Given the description of an element on the screen output the (x, y) to click on. 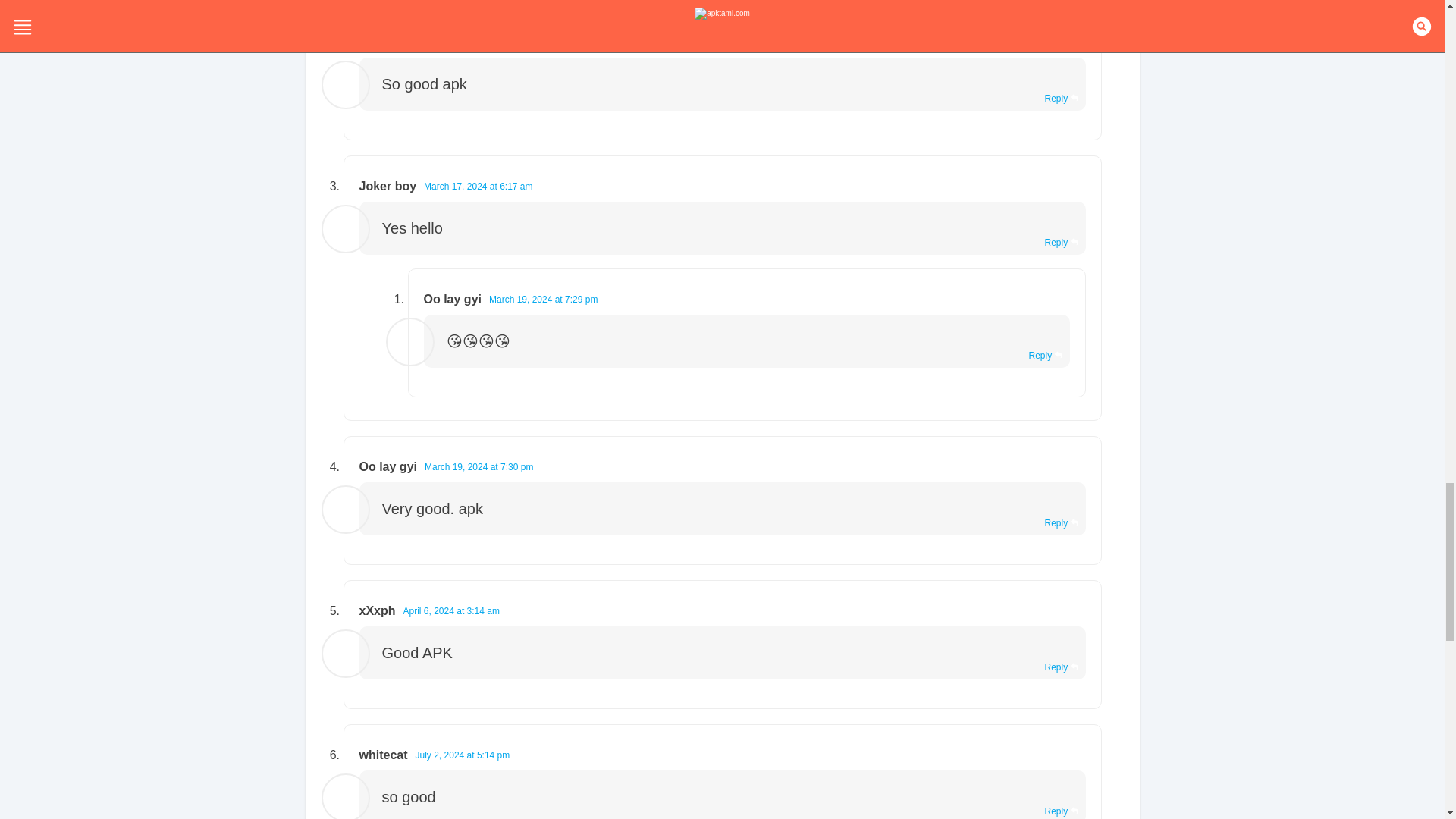
March 17, 2024 at 6:17 am (477, 185)
March 17, 2024 at 6:17 am (477, 41)
Reply (1044, 355)
Reply (1060, 242)
Reply (1060, 98)
Reply (1060, 522)
Reply (1060, 666)
March 19, 2024 at 7:30 pm (478, 466)
April 6, 2024 at 3:14 am (451, 611)
March 19, 2024 at 7:29 pm (542, 299)
